Given the description of an element on the screen output the (x, y) to click on. 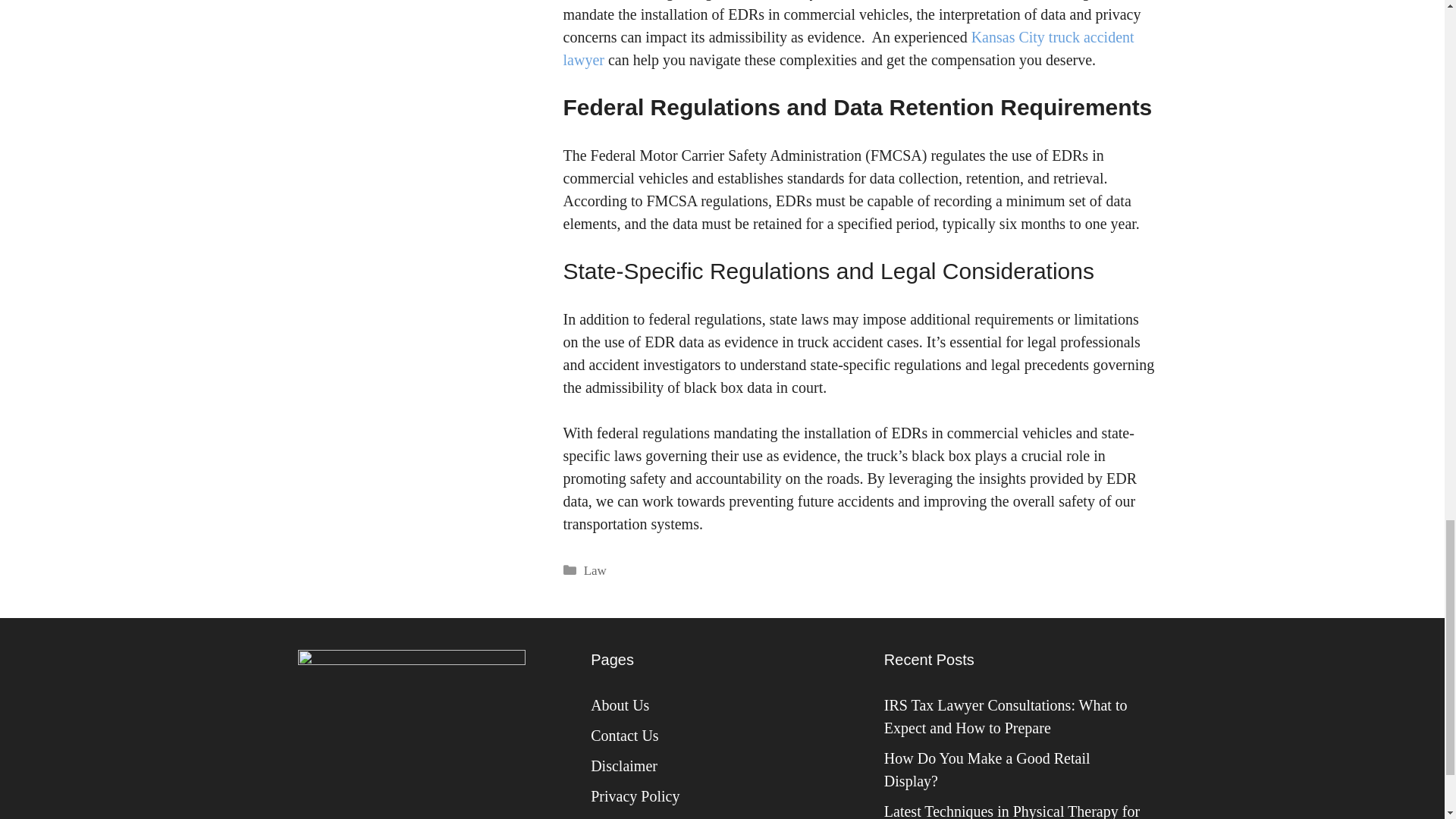
Latest Techniques in Physical Therapy for Pain Management (1011, 811)
Disclaimer (624, 765)
Contact Us (624, 735)
How Do You Make a Good Retail Display? (986, 769)
Law (595, 570)
Kansas City truck accident lawyer (848, 47)
About Us (620, 704)
Privacy Policy (635, 795)
